Given the description of an element on the screen output the (x, y) to click on. 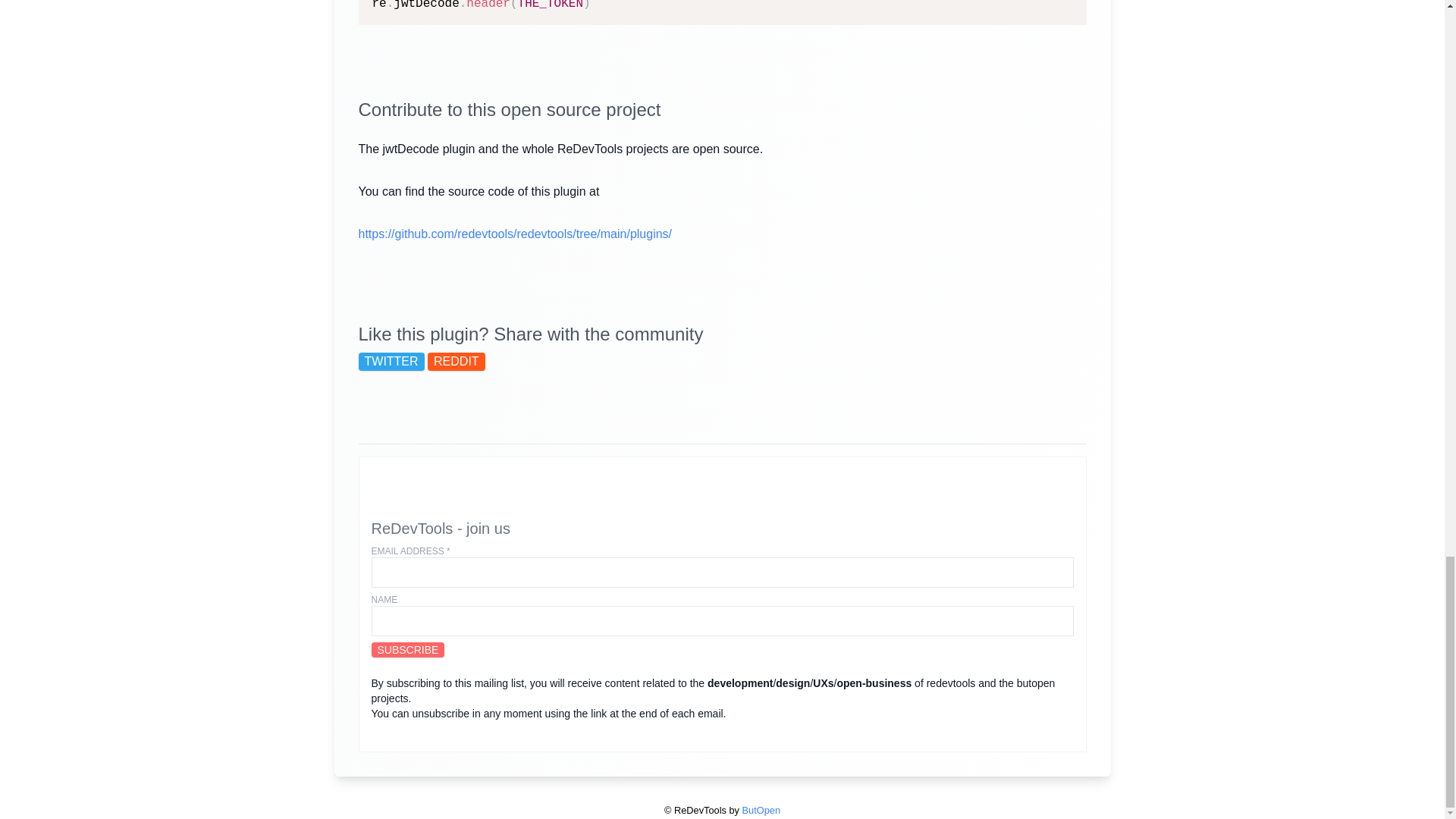
ButOpen (761, 809)
REDDIT (456, 361)
SUBSCRIBE (408, 649)
TWITTER (390, 361)
